Given the description of an element on the screen output the (x, y) to click on. 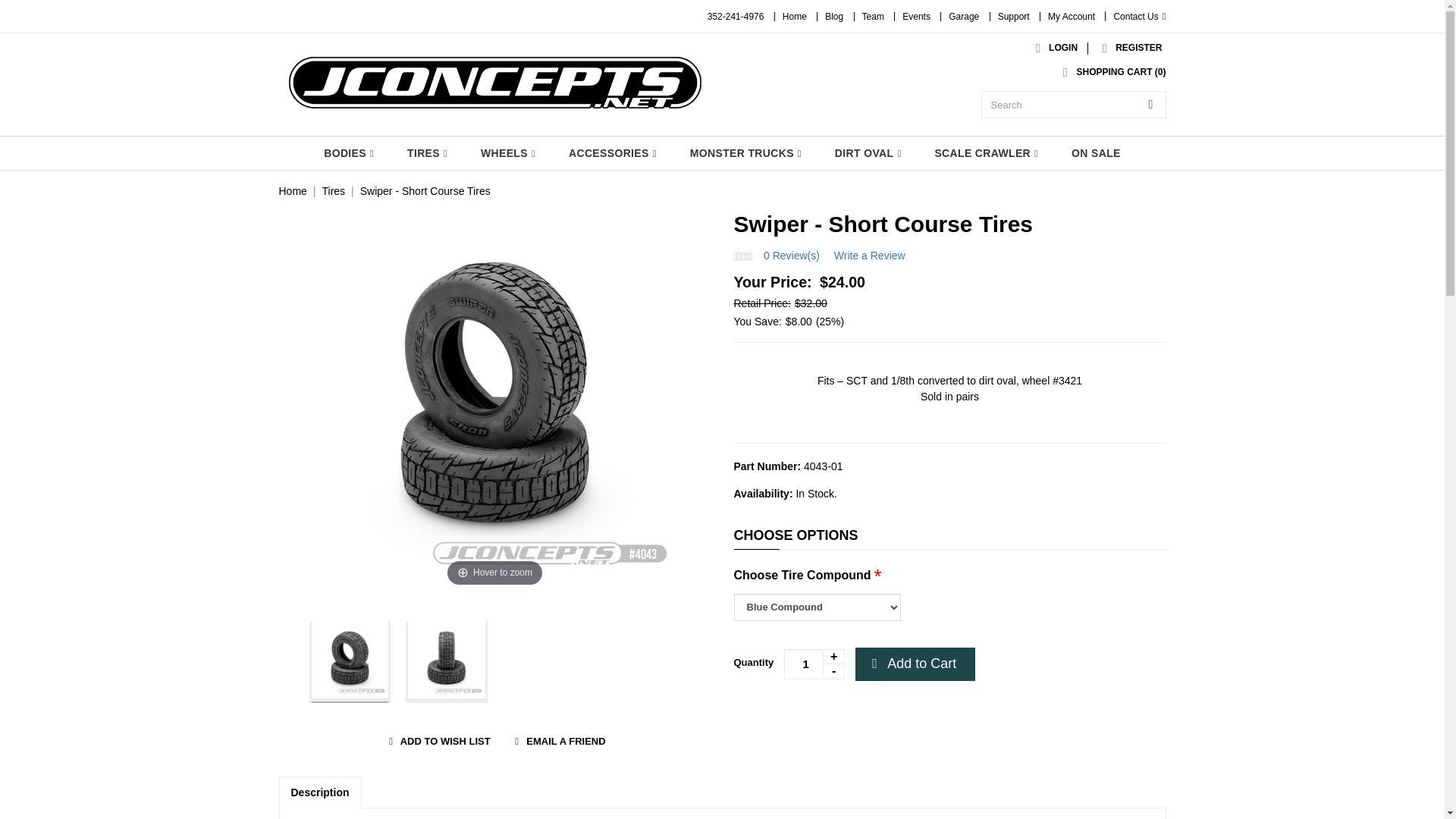
TIRES (427, 152)
BODIES (348, 152)
Home (794, 16)
Team (872, 16)
Events (916, 16)
LOGIN (1053, 47)
1 (814, 664)
Garage (963, 16)
Blog (834, 16)
Support (1013, 16)
352-241-4976 (735, 16)
My Account (1071, 16)
Contact Us (1139, 16)
REGISTER (1128, 47)
